Given the description of an element on the screen output the (x, y) to click on. 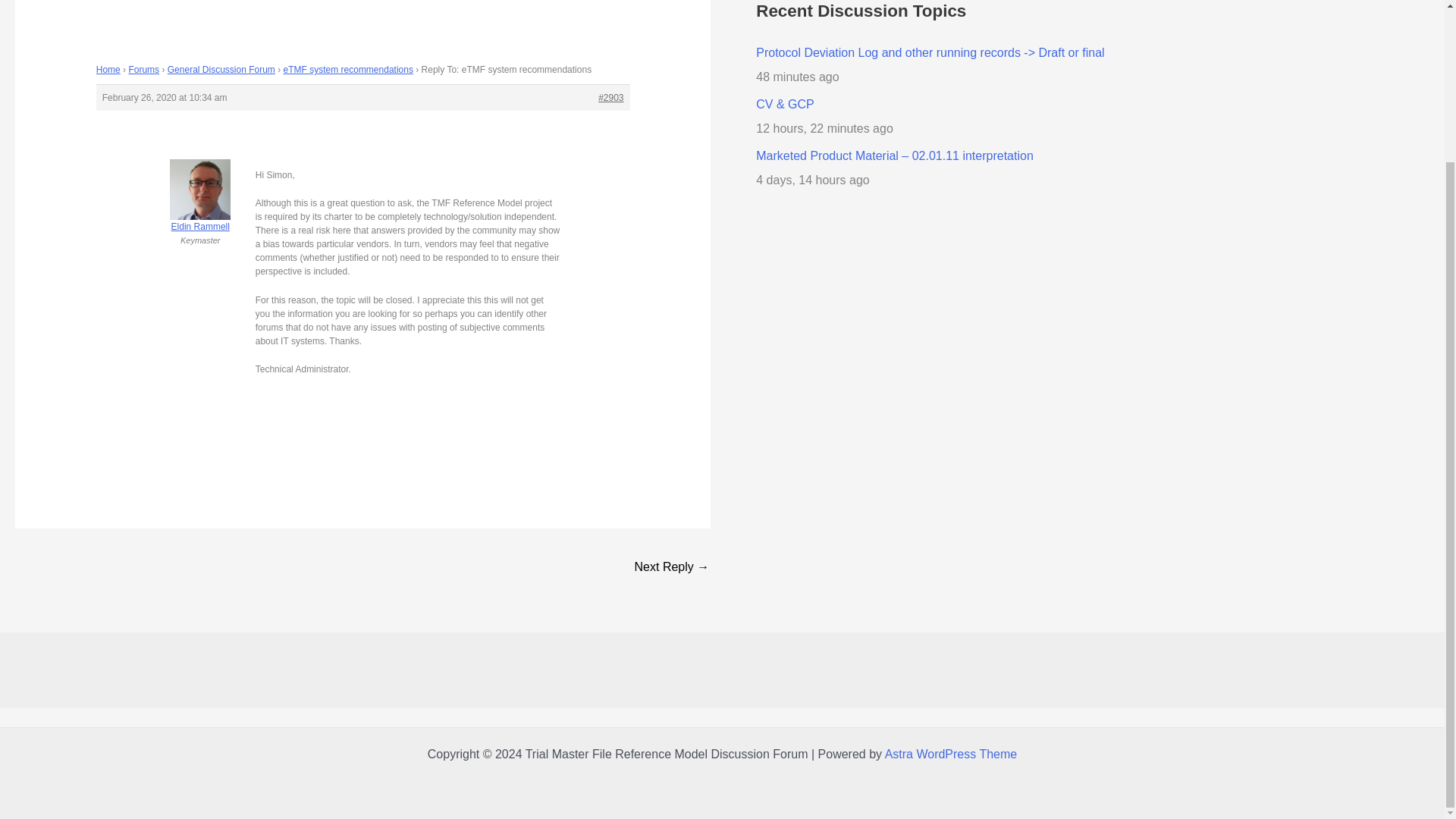
Forums (143, 69)
View Eldin Rammell's profile (200, 208)
Eldin Rammell (200, 208)
Astra WordPress Theme (951, 753)
Home (108, 69)
eTMF system recommendations (348, 69)
General Discussion Forum (221, 69)
